Given the description of an element on the screen output the (x, y) to click on. 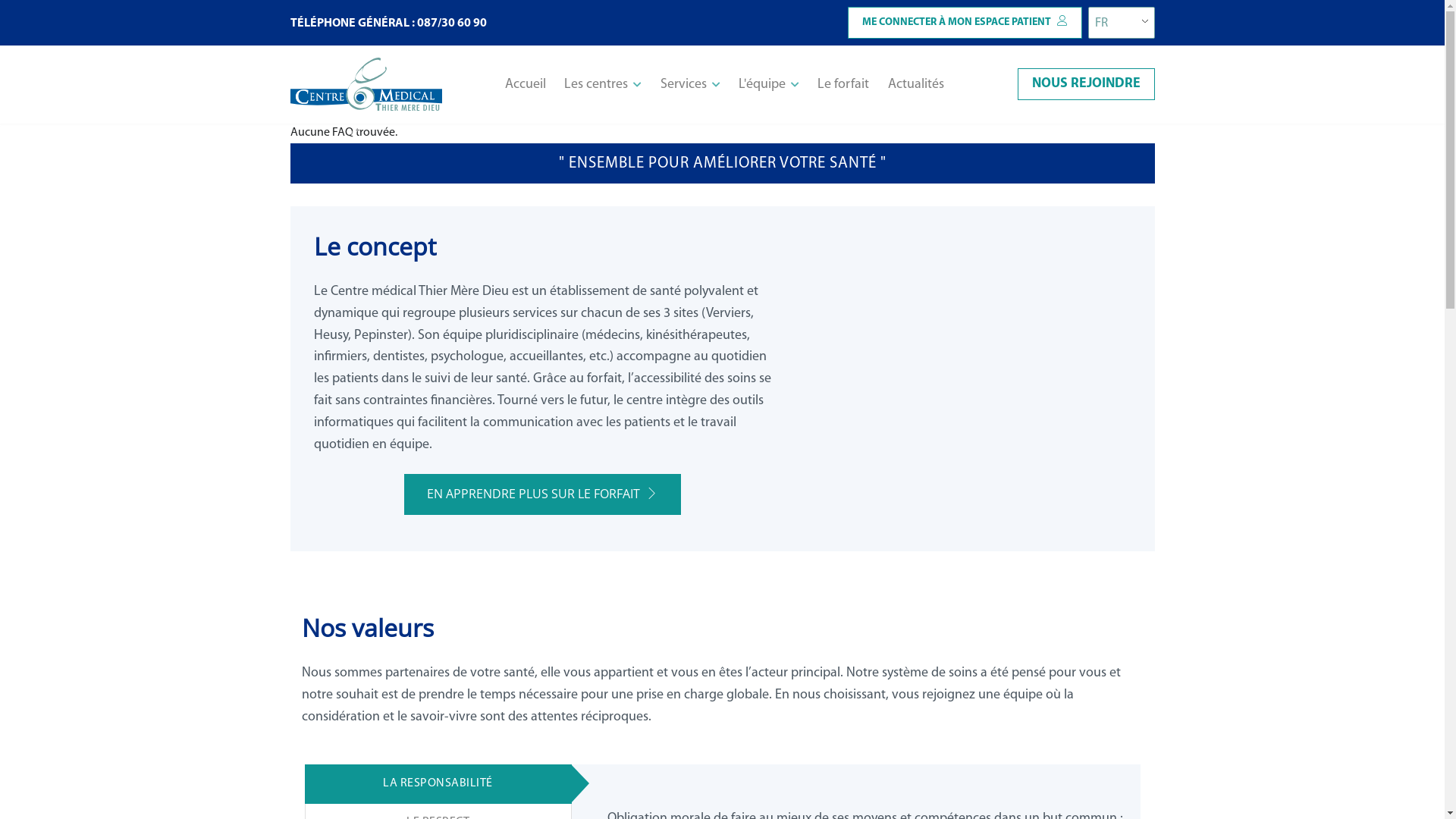
Next Element type: text (1089, 133)
FR Element type: text (1115, 22)
Previous Element type: text (354, 133)
Les centres Element type: text (602, 84)
Le forfait Element type: text (843, 84)
EN APPRENDRE PLUS SUR LE FORFAIT   Element type: text (541, 493)
Services Element type: text (689, 84)
Accueil Element type: text (525, 84)
NOUS REJOINDRE Element type: text (1085, 84)
YouTube video player Element type: hover (973, 378)
